Given the description of an element on the screen output the (x, y) to click on. 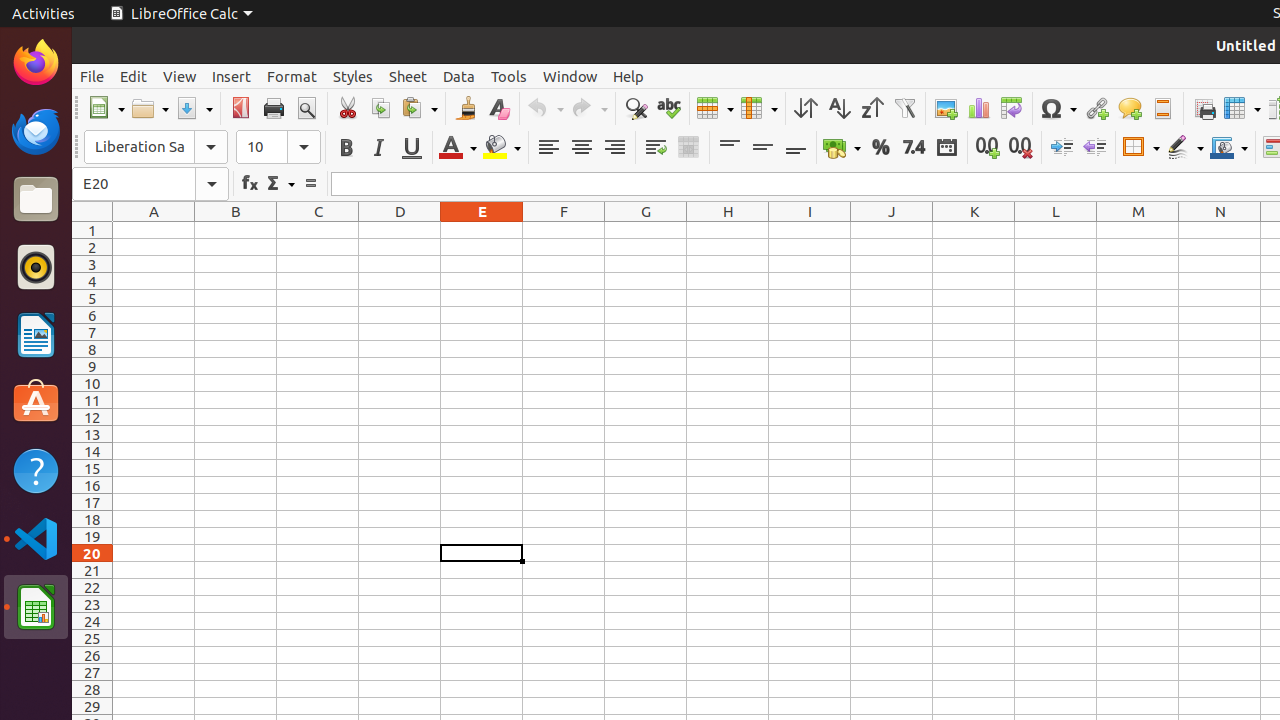
Align Top Element type: push-button (729, 147)
Font Color Element type: push-button (458, 147)
Bold Element type: toggle-button (345, 147)
Sort Descending Element type: push-button (871, 108)
